Given the description of an element on the screen output the (x, y) to click on. 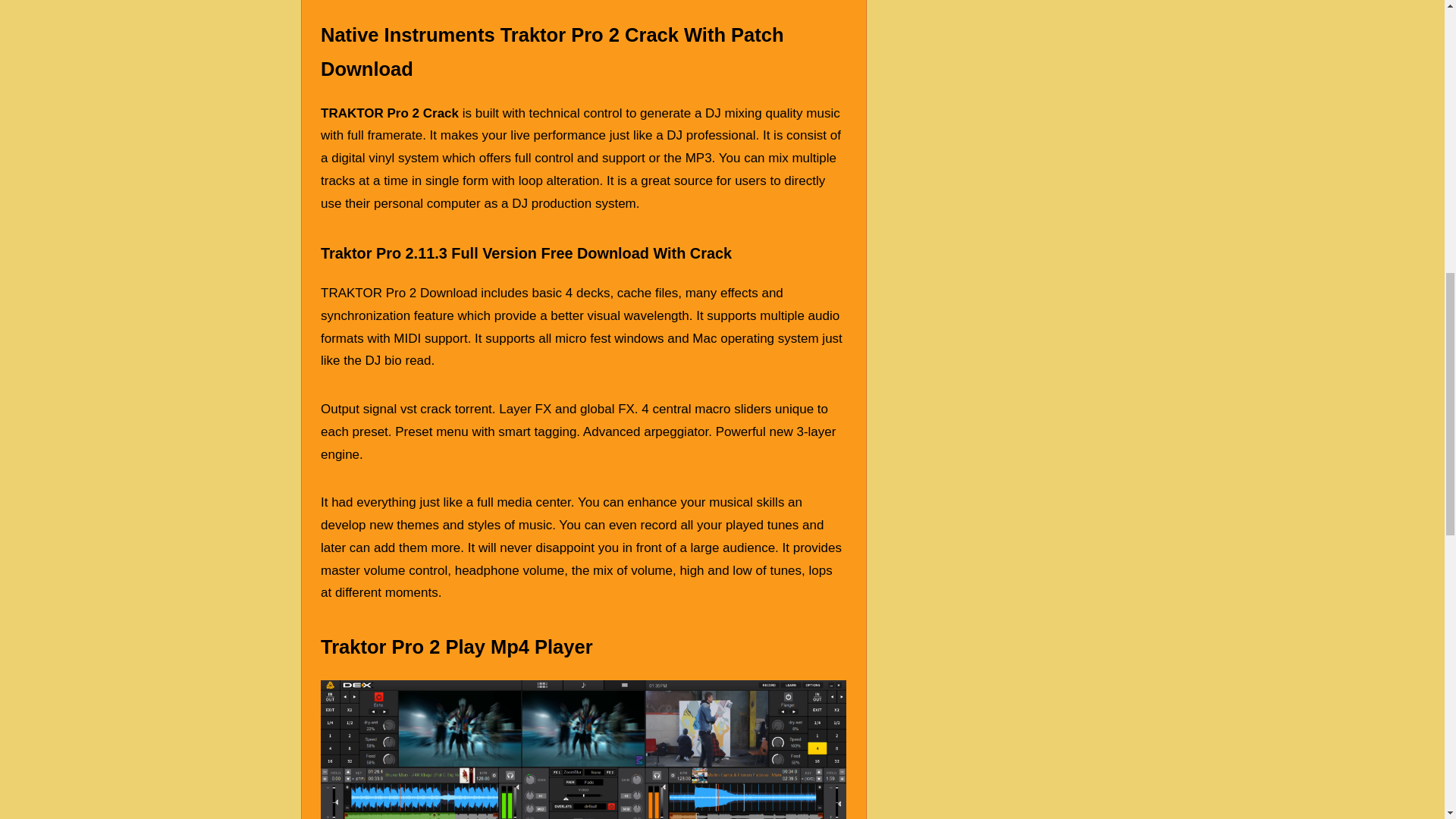
Traktor 2 download (582, 749)
signal (379, 409)
signal (379, 409)
